Given the description of an element on the screen output the (x, y) to click on. 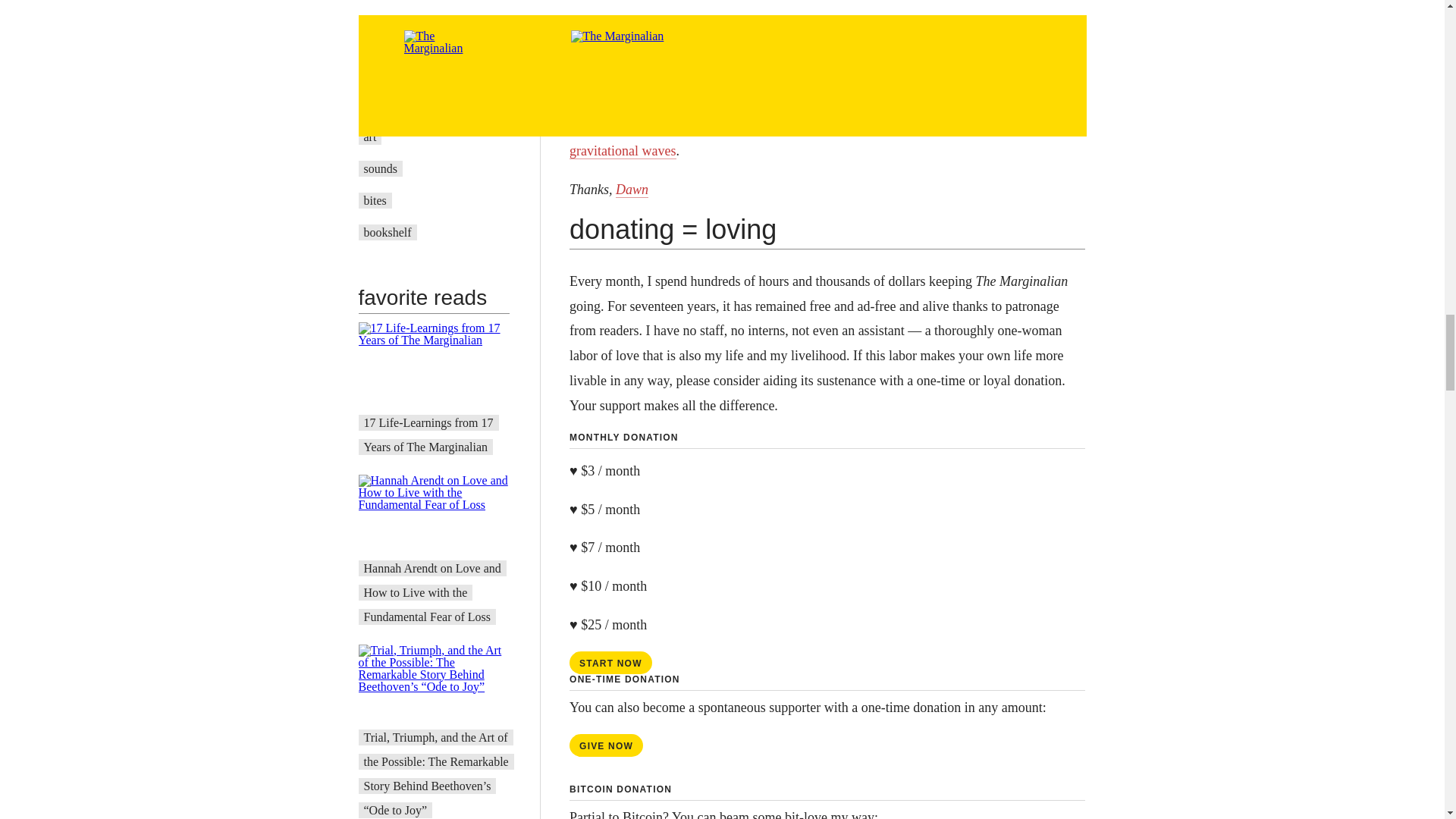
A Velocity of Being (412, 105)
bites (375, 200)
sounds (380, 168)
